Given the description of an element on the screen output the (x, y) to click on. 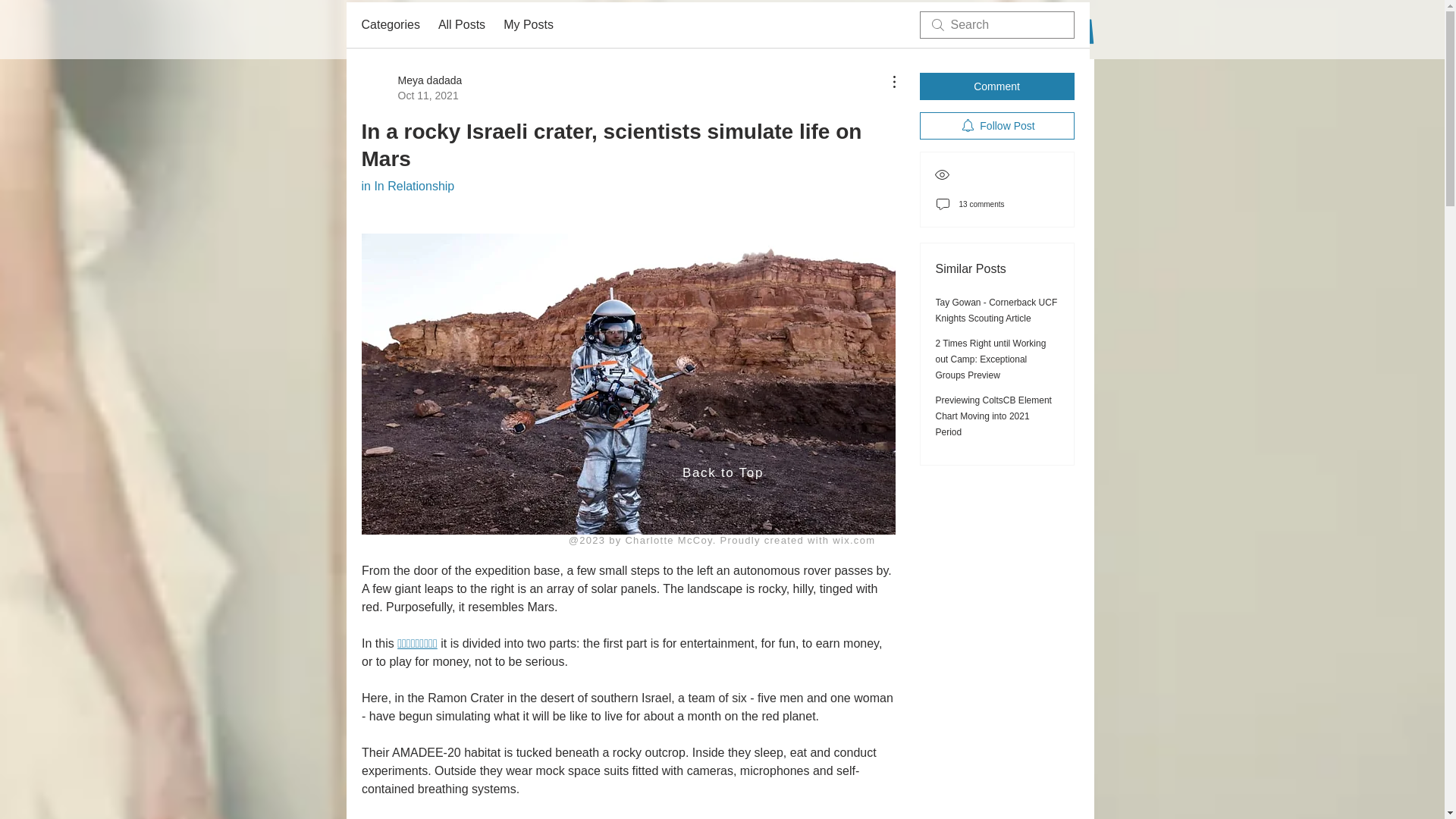
COLLECTION 2023 (491, 37)
COLLECTION 2021 (753, 37)
COLLECTION 2022 (654, 37)
My Posts (528, 24)
COLLECTION (842, 37)
Categories (390, 24)
ABOUT (417, 37)
in In Relationship (407, 185)
PORTFOLIO (915, 37)
CONTACT (573, 37)
